Given the description of an element on the screen output the (x, y) to click on. 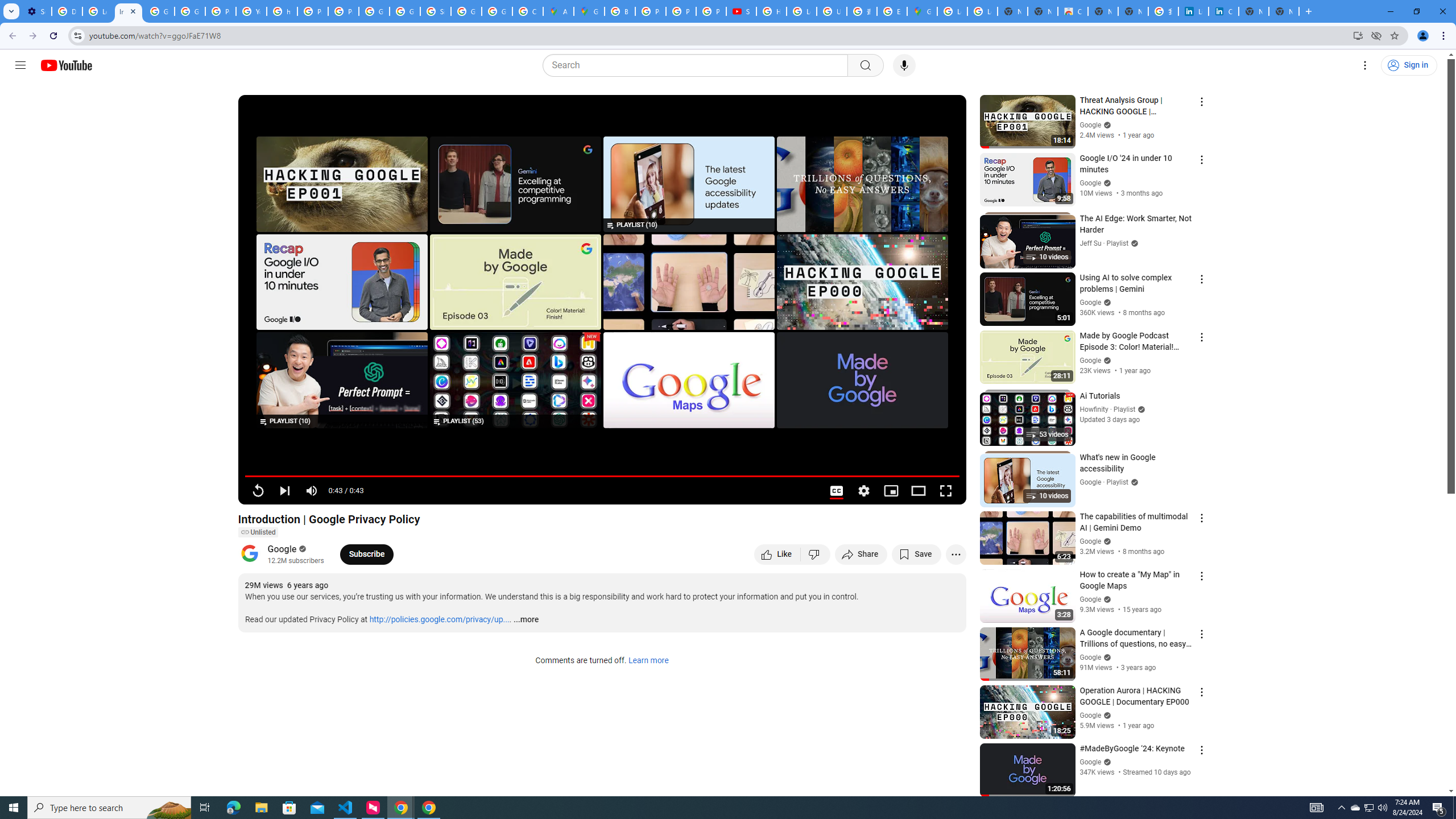
Share (861, 554)
Google Account Help (158, 11)
Introduction | Google Privacy Policy - YouTube (127, 11)
Guide (20, 65)
Learn how to find your photos - Google Photos Help (97, 11)
Settings - Customize profile (36, 11)
Like (777, 554)
